Given the description of an element on the screen output the (x, y) to click on. 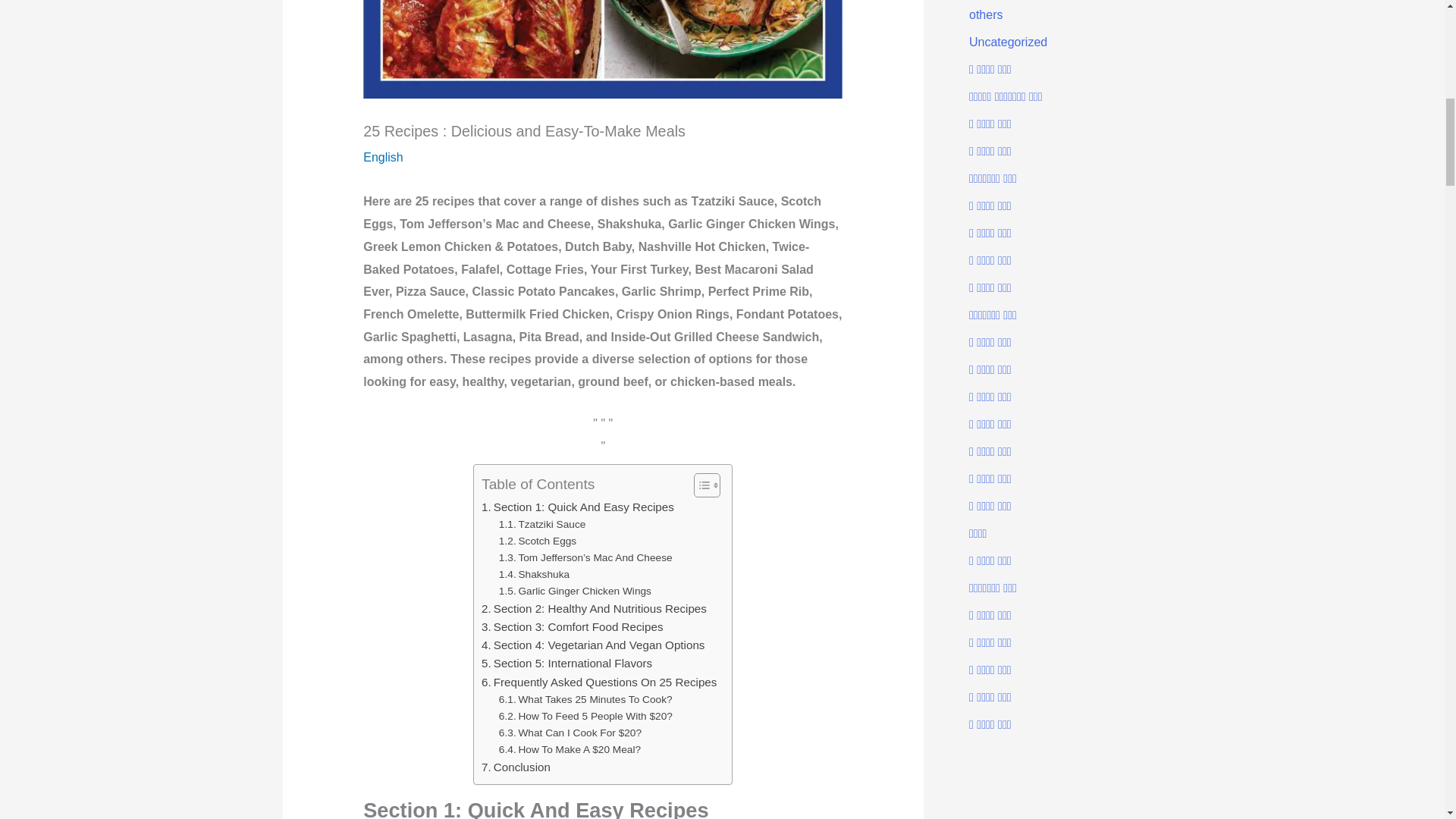
Section 1: Quick And Easy Recipes (577, 506)
Shakshuka (534, 574)
Scotch Eggs (537, 541)
Frequently Asked Questions On 25 Recipes (598, 682)
Conclusion (515, 767)
Section 4: Vegetarian And Vegan Options (592, 645)
What Takes 25 Minutes To Cook? (585, 699)
Section 5: International Flavors (566, 663)
Garlic Ginger Chicken Wings (574, 591)
Section 2: Healthy And Nutritious Recipes (593, 607)
Tzatziki Sauce (542, 524)
Section 3: Comfort Food Recipes (571, 627)
